Given the description of an element on the screen output the (x, y) to click on. 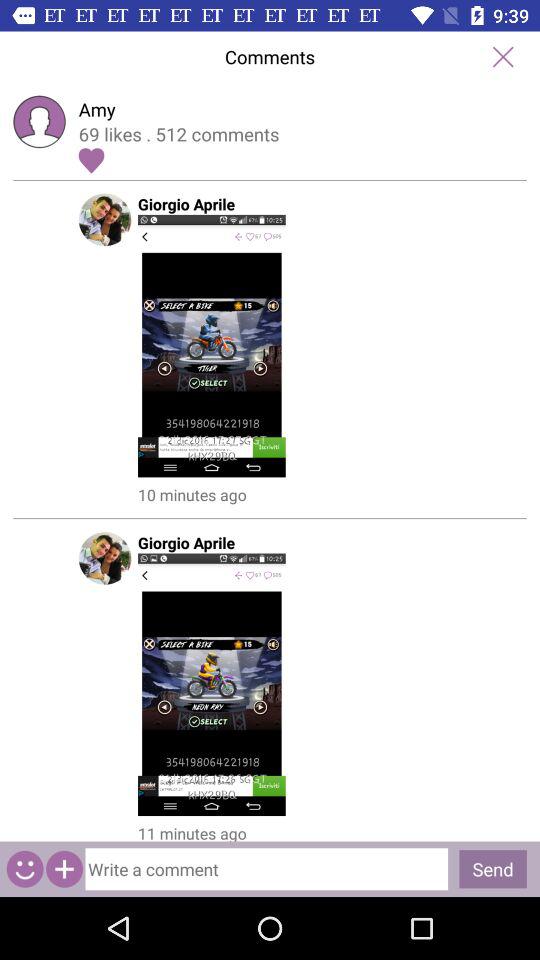
like post (91, 160)
